Given the description of an element on the screen output the (x, y) to click on. 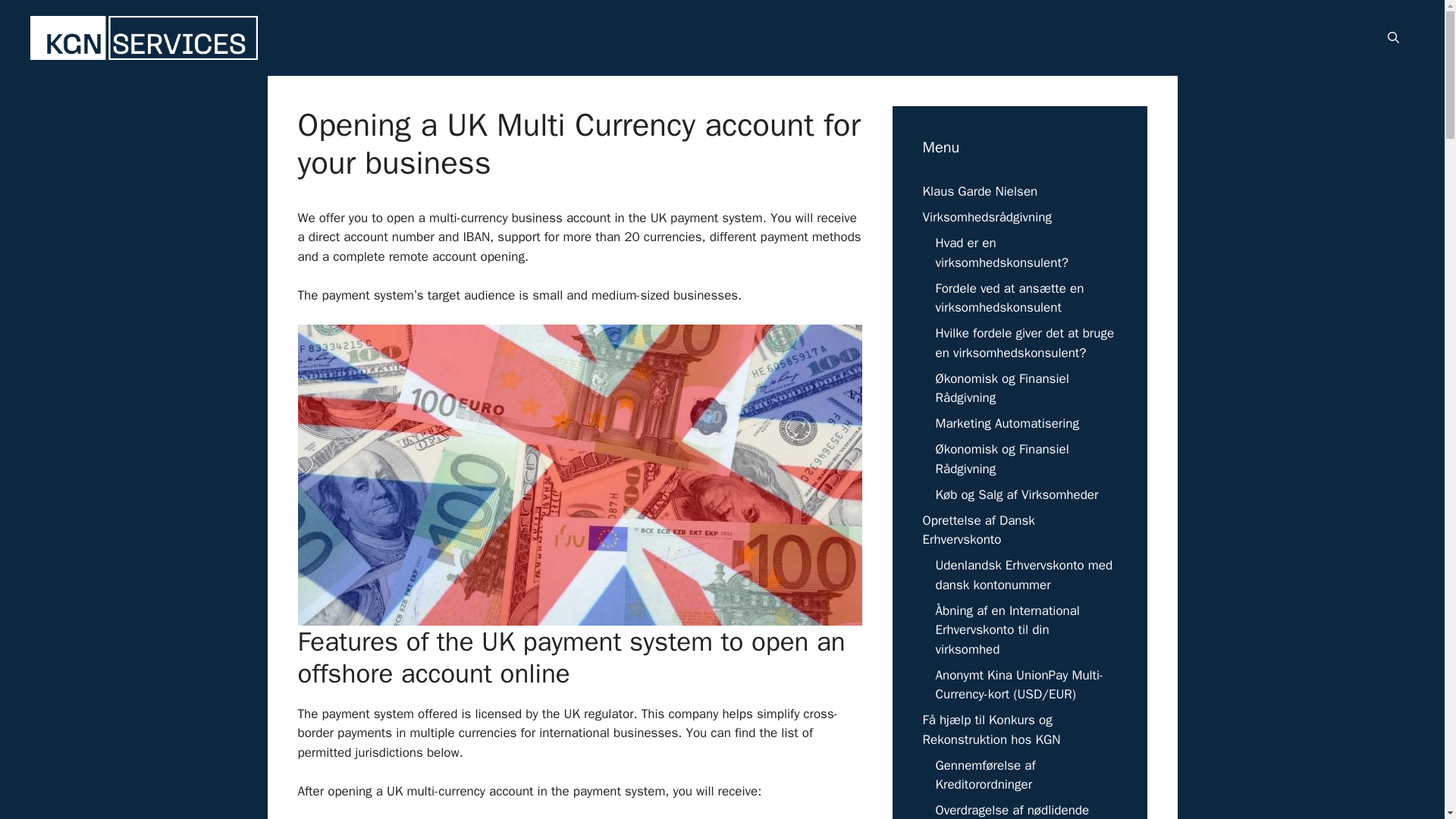
Klaus Garde Nielsen (978, 191)
Udenlandsk Erhvervskonto med dansk kontonummer (1024, 574)
Hvilke fordele giver det at bruge en virksomhedskonsulent? (1025, 343)
Marketing Automatisering (1007, 423)
Oprettelse af Dansk Erhvervskonto (977, 529)
Hvad er en virksomhedskonsulent? (1002, 253)
